Given the description of an element on the screen output the (x, y) to click on. 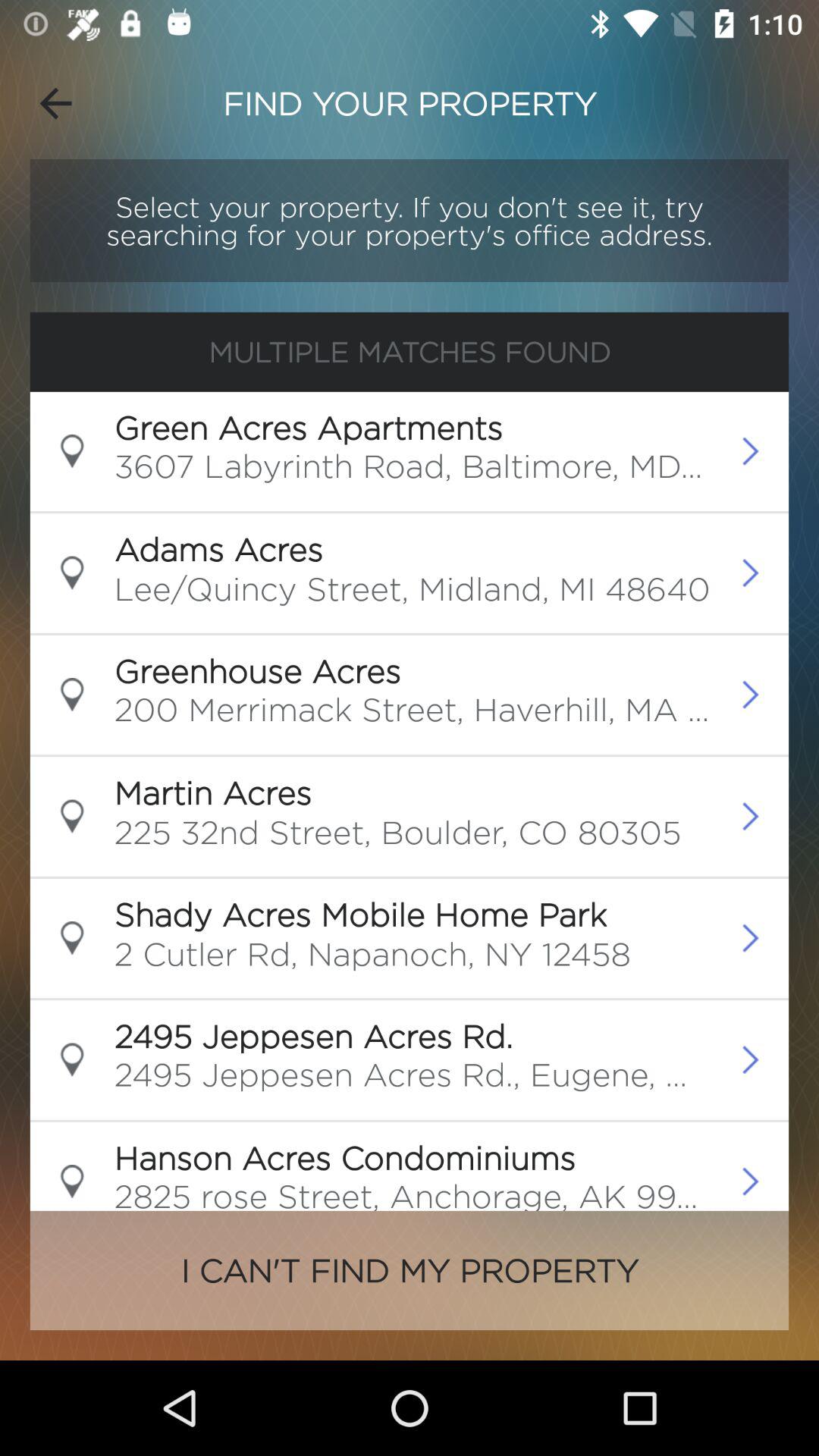
press item below adams acres item (412, 592)
